Given the description of an element on the screen output the (x, y) to click on. 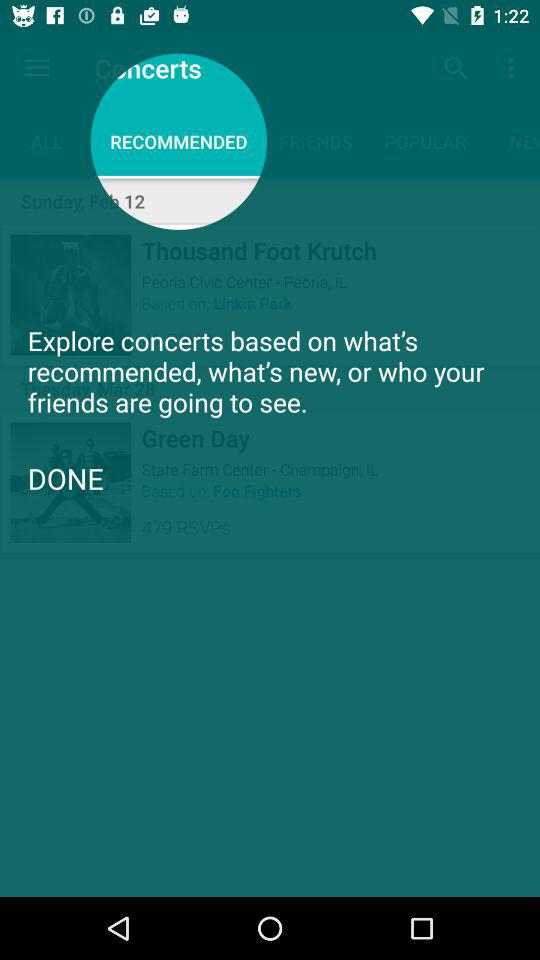
click on three vertical dots at top right corner of the page (514, 68)
